Given the description of an element on the screen output the (x, y) to click on. 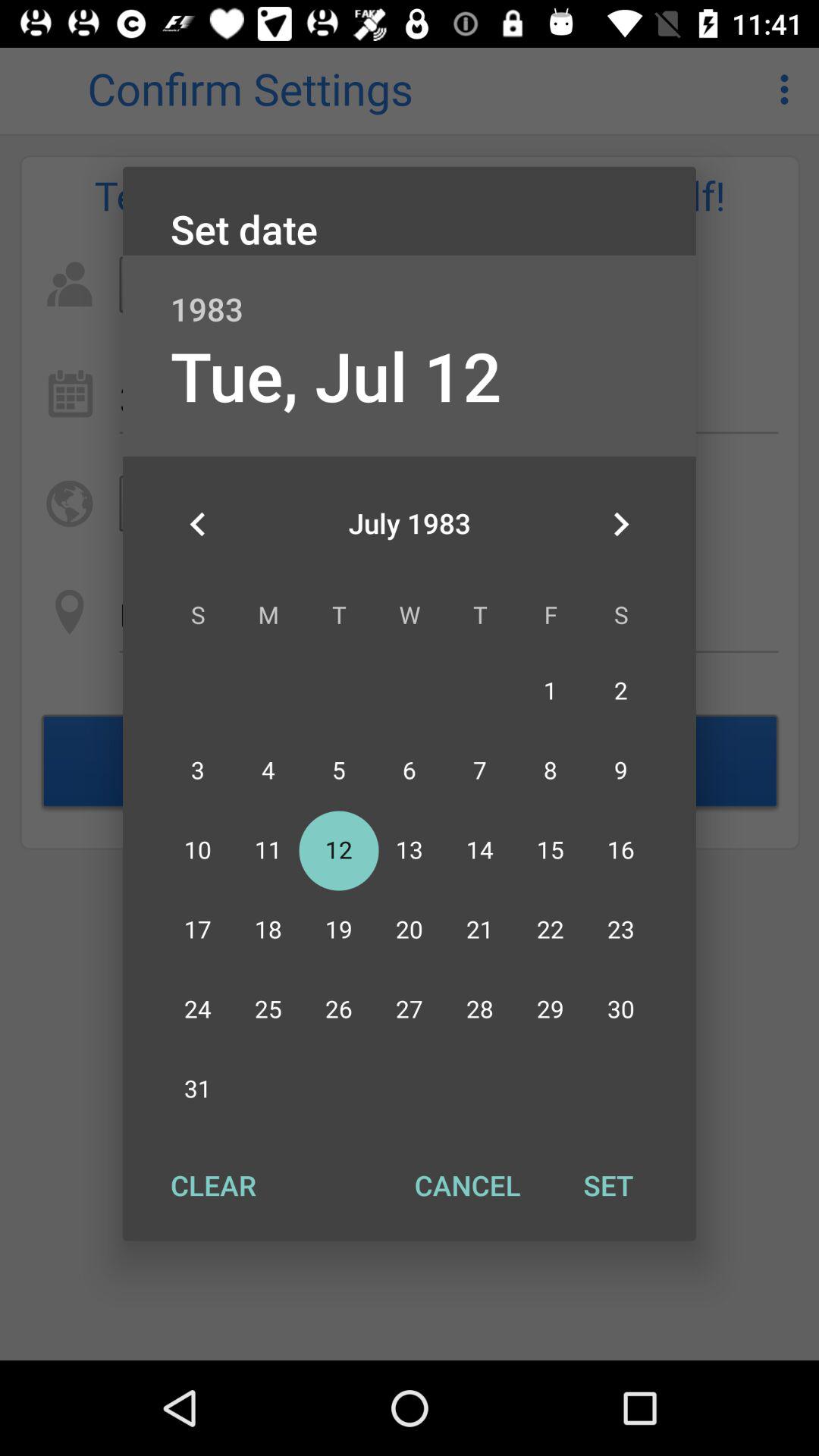
tap item below set date (409, 292)
